Given the description of an element on the screen output the (x, y) to click on. 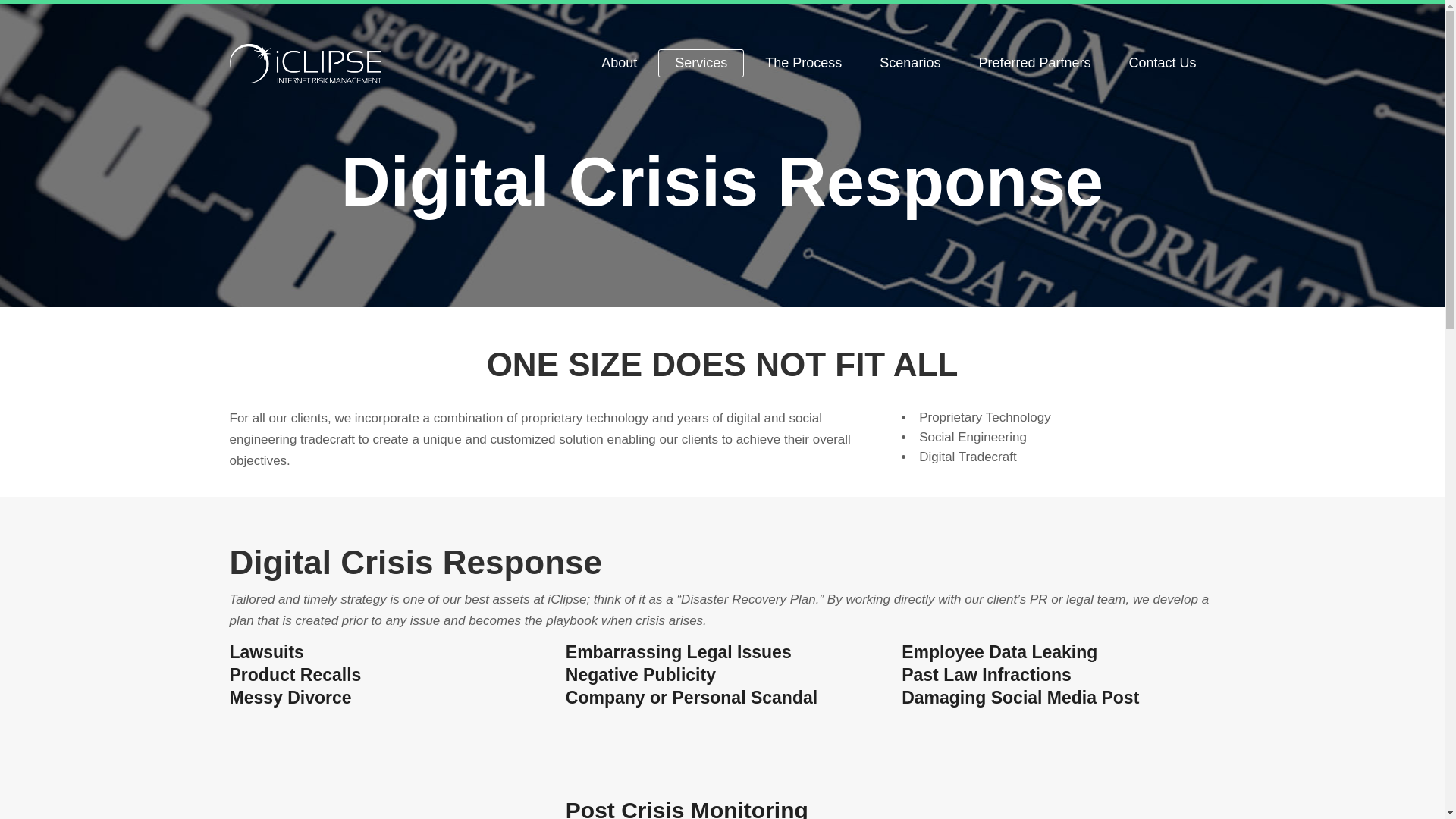
Preferred Partners (1034, 63)
The Process (802, 63)
